Given the description of an element on the screen output the (x, y) to click on. 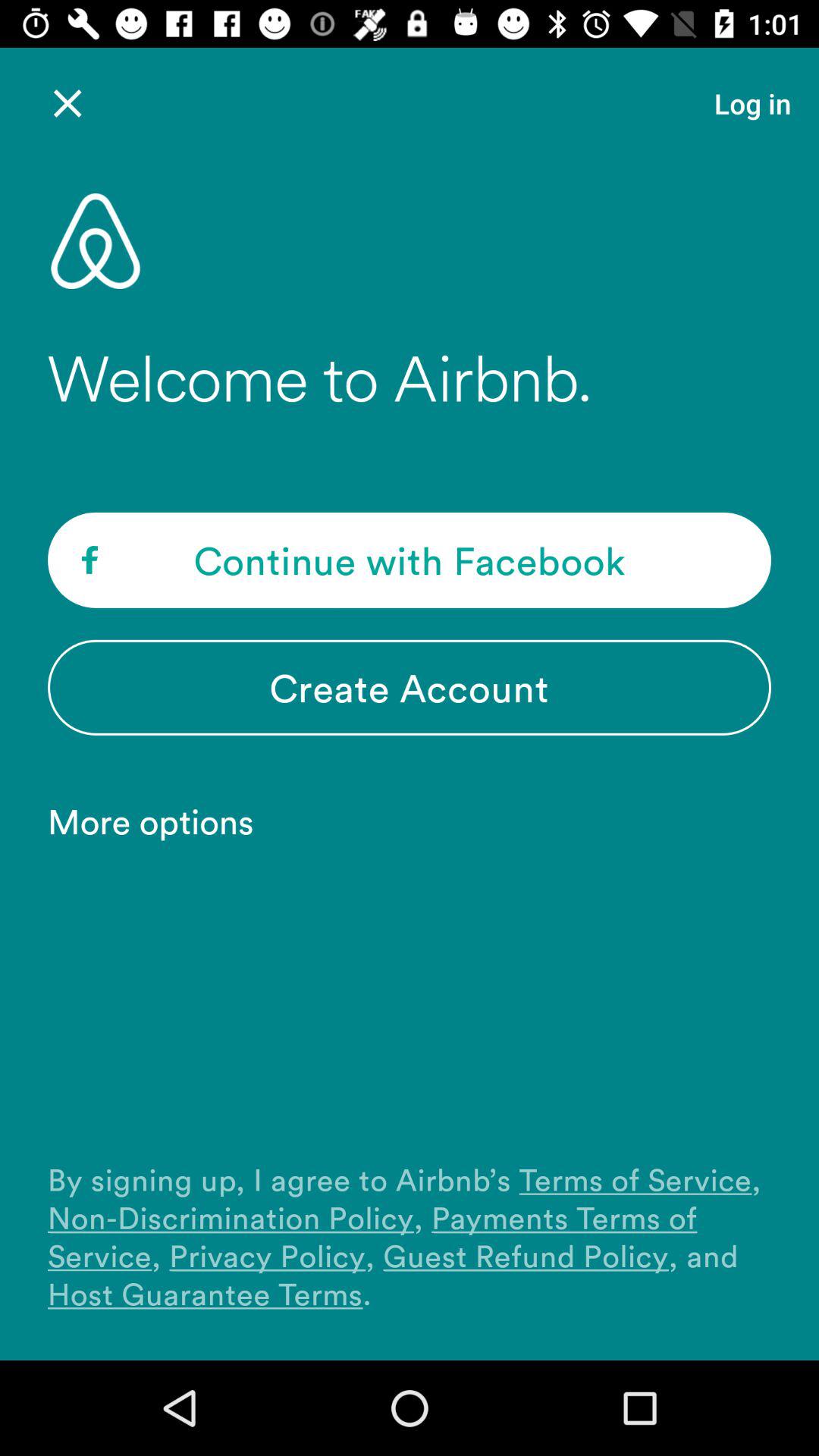
turn on the item to the left of log in (67, 103)
